Given the description of an element on the screen output the (x, y) to click on. 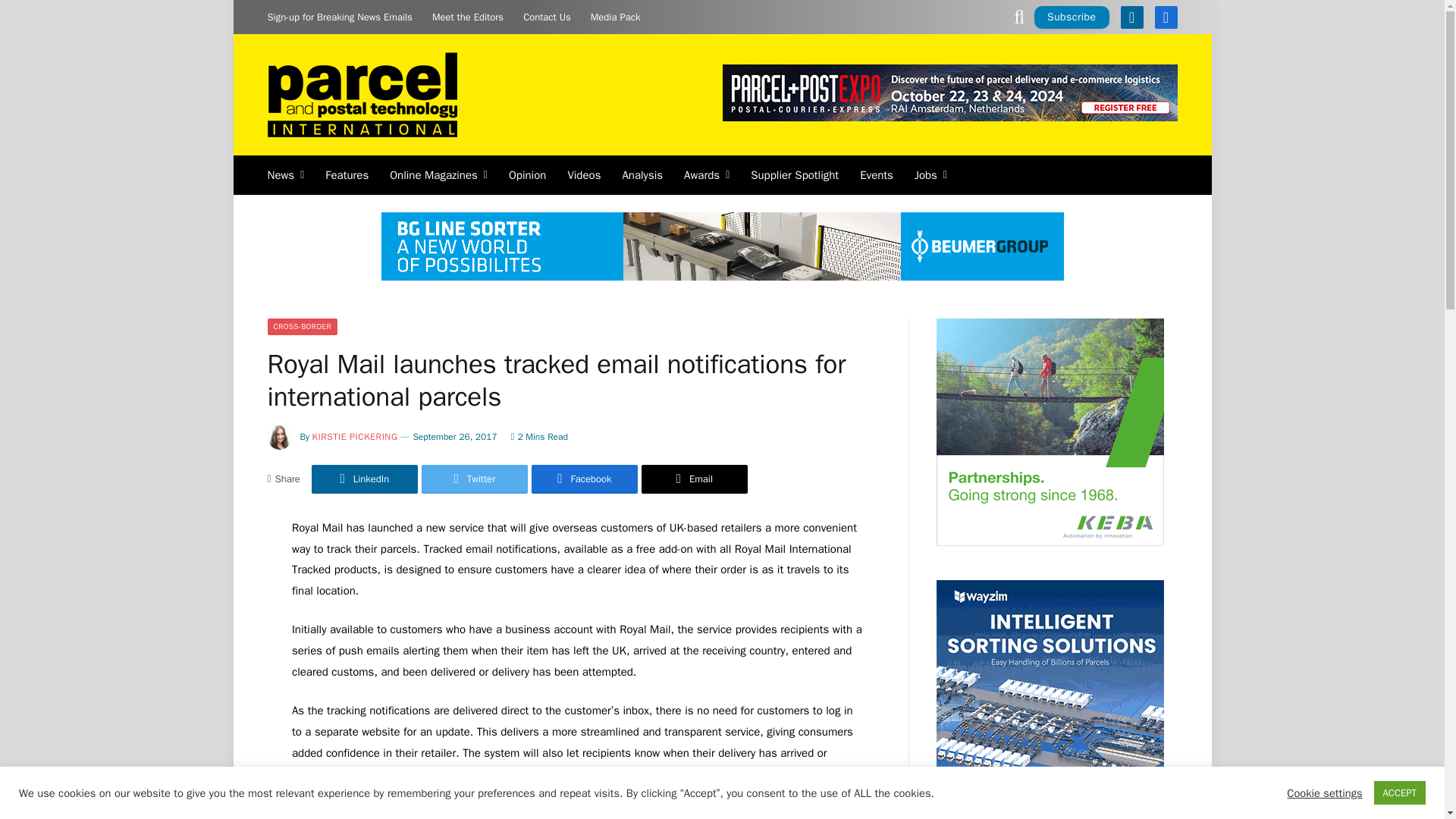
Share on Facebook (584, 479)
Share via Email (695, 479)
Share on Twitter (474, 479)
Posts by Kirstie Pickering (355, 436)
Parcel and Postal Technology International (361, 94)
Share on LinkedIn (364, 479)
